Given the description of an element on the screen output the (x, y) to click on. 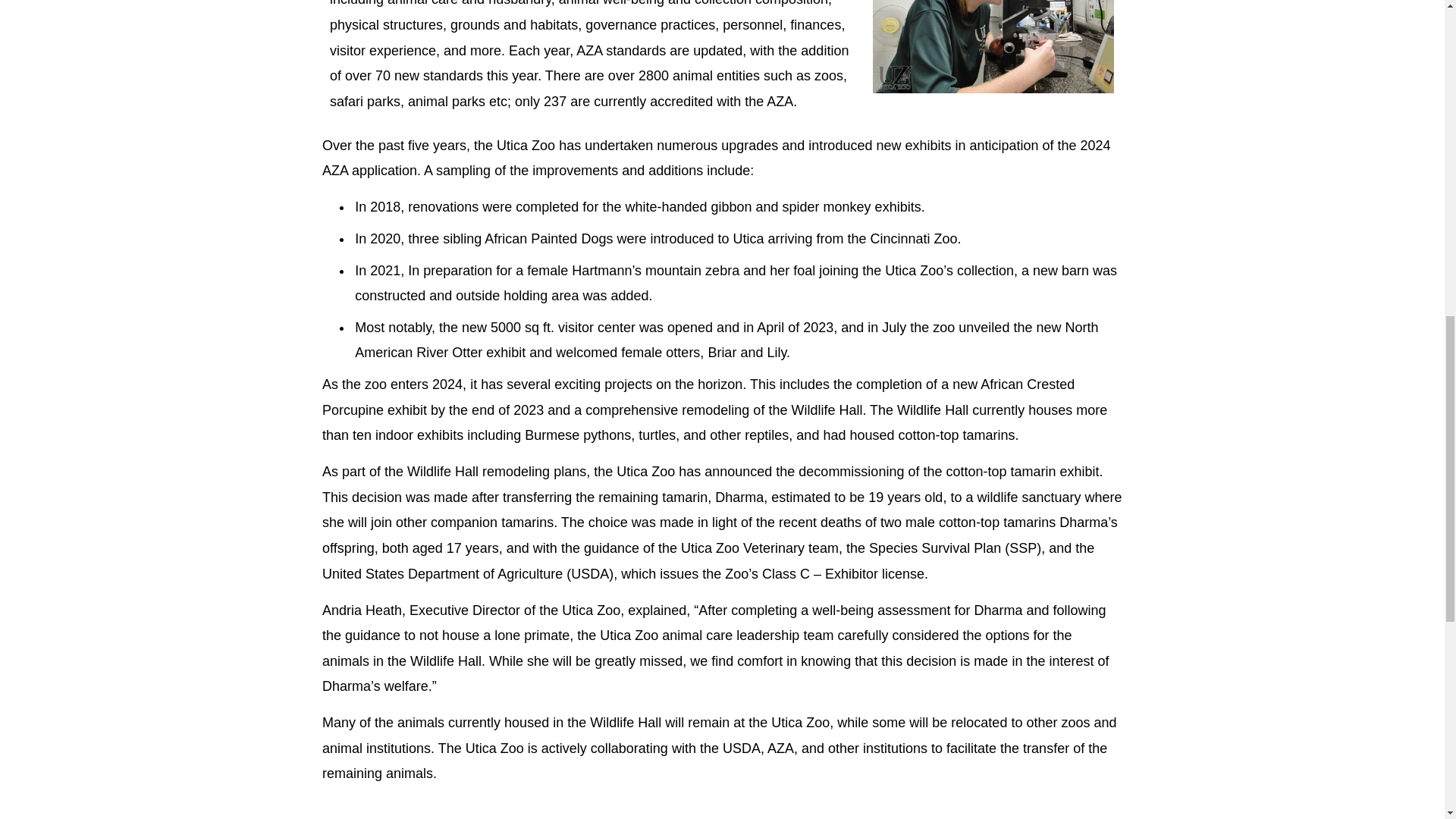
FareHarbor (1342, 64)
